Given the description of an element on the screen output the (x, y) to click on. 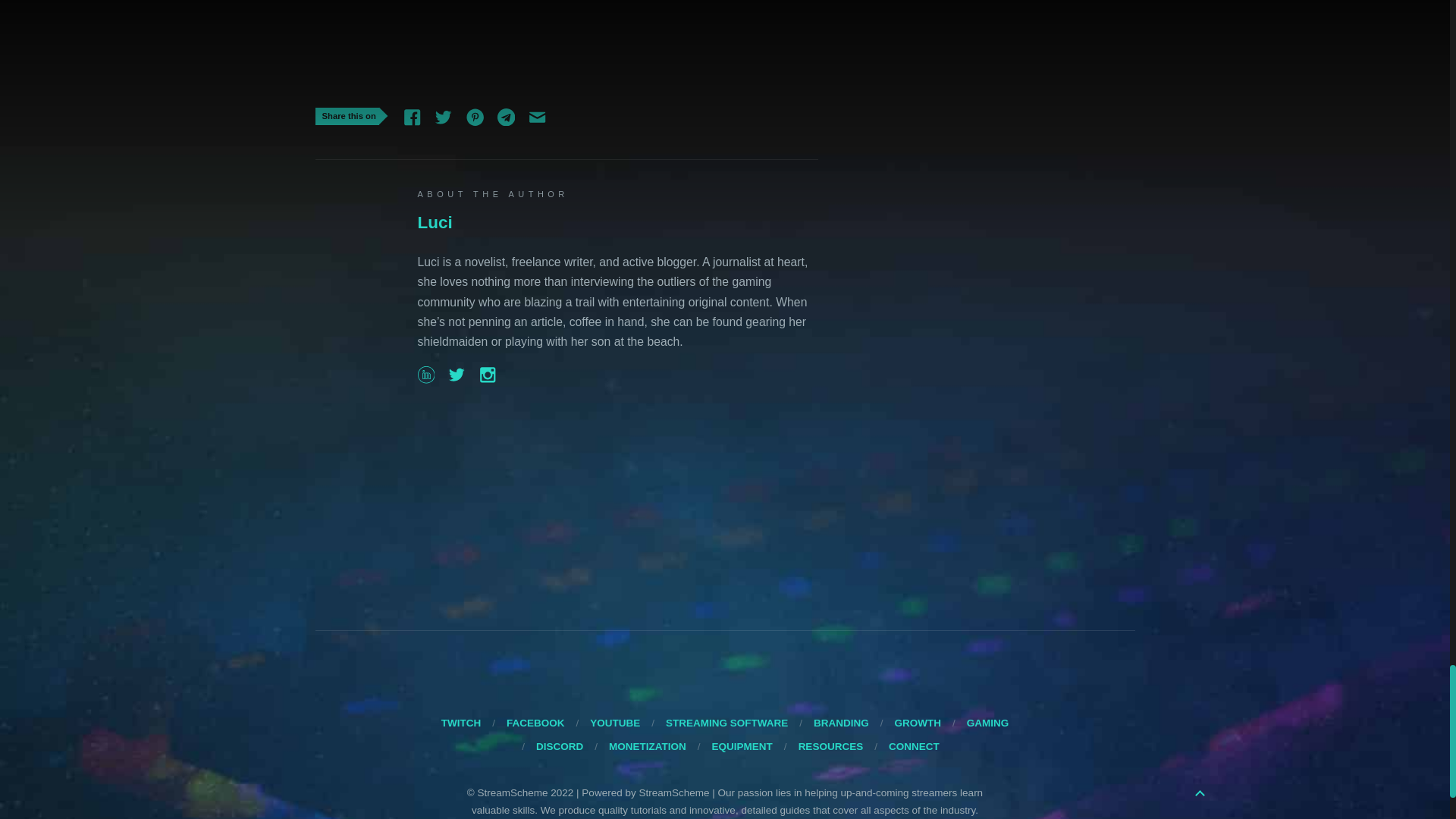
linkedin (424, 378)
pinterest (474, 117)
twitter1 (442, 117)
twitter1 (456, 378)
twitter1 (537, 115)
facebook1 (475, 115)
instagram (456, 374)
mail (411, 117)
telegram (487, 374)
linkedin (412, 115)
